Given the description of an element on the screen output the (x, y) to click on. 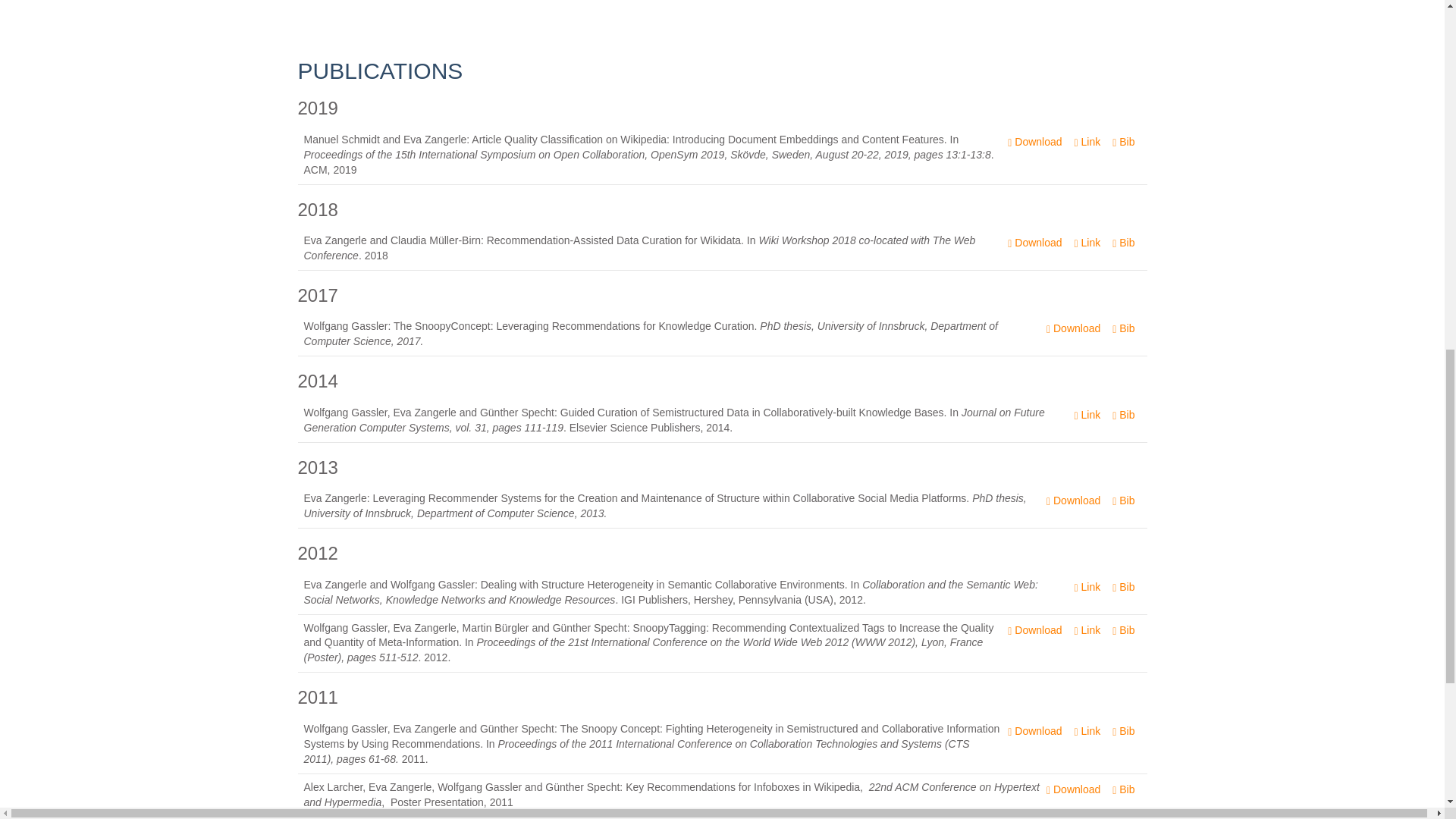
Download (1072, 329)
Download (1035, 243)
Bib (1123, 415)
Download (1035, 142)
Bib (1123, 142)
Bib (1123, 243)
Link (1087, 243)
Link (1087, 142)
Link (1087, 415)
Bib (1123, 329)
